Given the description of an element on the screen output the (x, y) to click on. 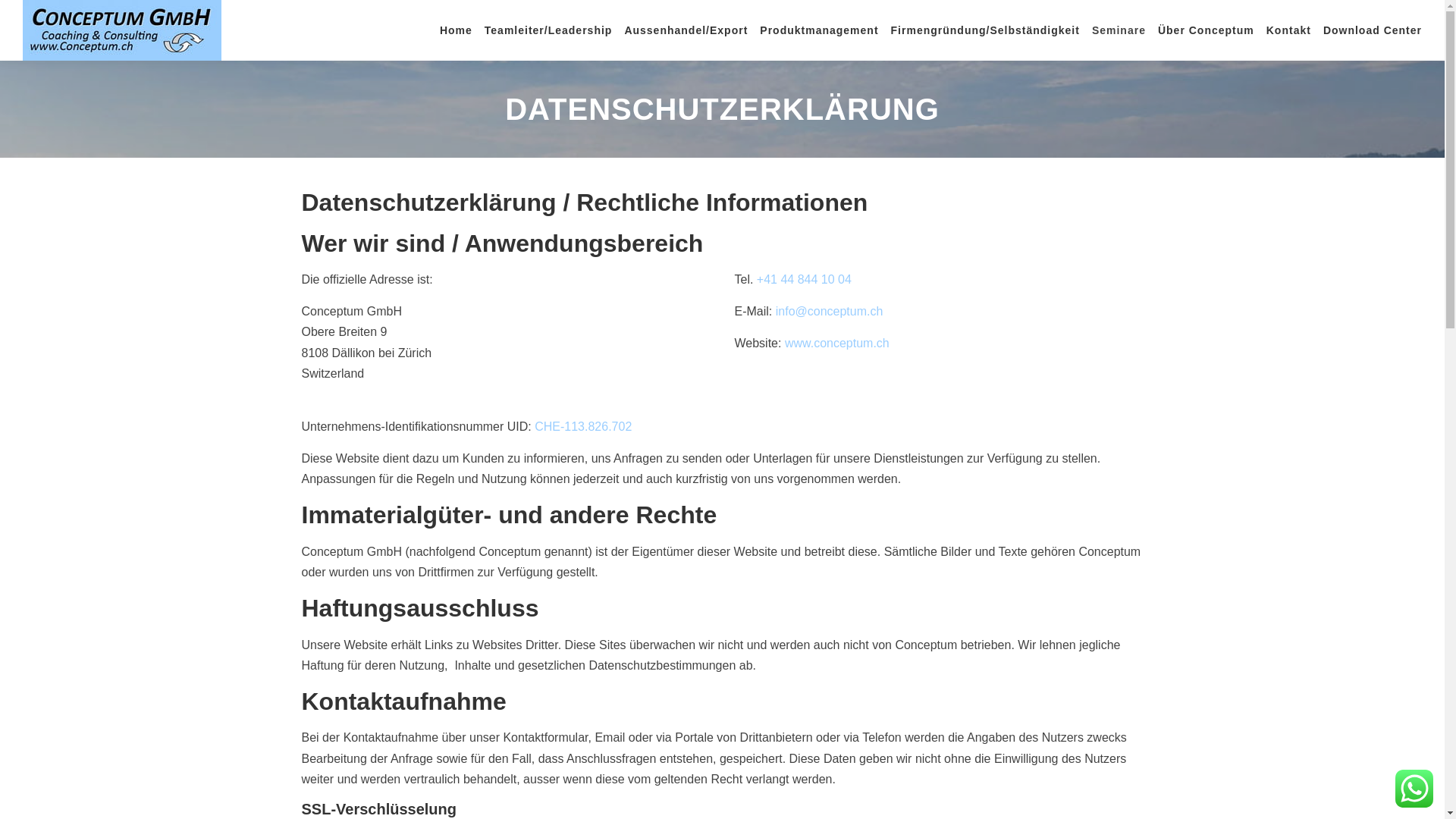
info@conceptum.ch Element type: text (829, 310)
Produktmanagement Element type: text (818, 30)
+41 44 844 10 04 Element type: text (803, 279)
Home Element type: text (455, 30)
Download Center Element type: text (1369, 30)
Teamleiter/Leadership Element type: text (548, 30)
Kontakt Element type: text (1288, 30)
Aussenhandel/Export Element type: text (685, 30)
CHE-113.826.702 Element type: text (582, 426)
www.conceptum.ch Element type: text (836, 342)
Seminare Element type: text (1118, 30)
